Given the description of an element on the screen output the (x, y) to click on. 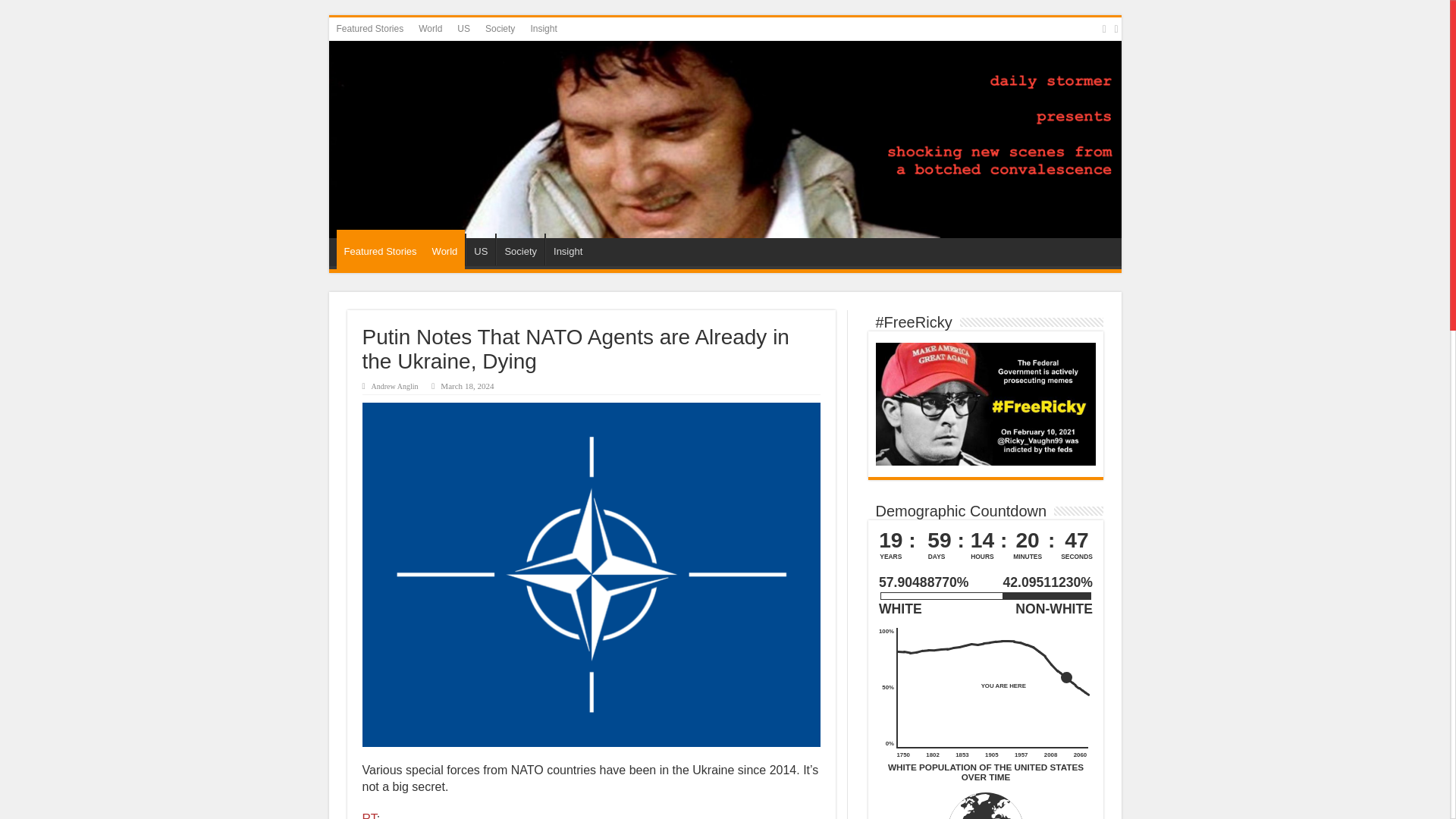
World (429, 28)
US (480, 249)
Insight (566, 249)
Society (499, 28)
Andrew Anglin (395, 386)
RT (369, 815)
Featured Stories (380, 249)
US (463, 28)
Insight (543, 28)
Featured Stories (370, 28)
World (445, 249)
Society (520, 249)
